Given the description of an element on the screen output the (x, y) to click on. 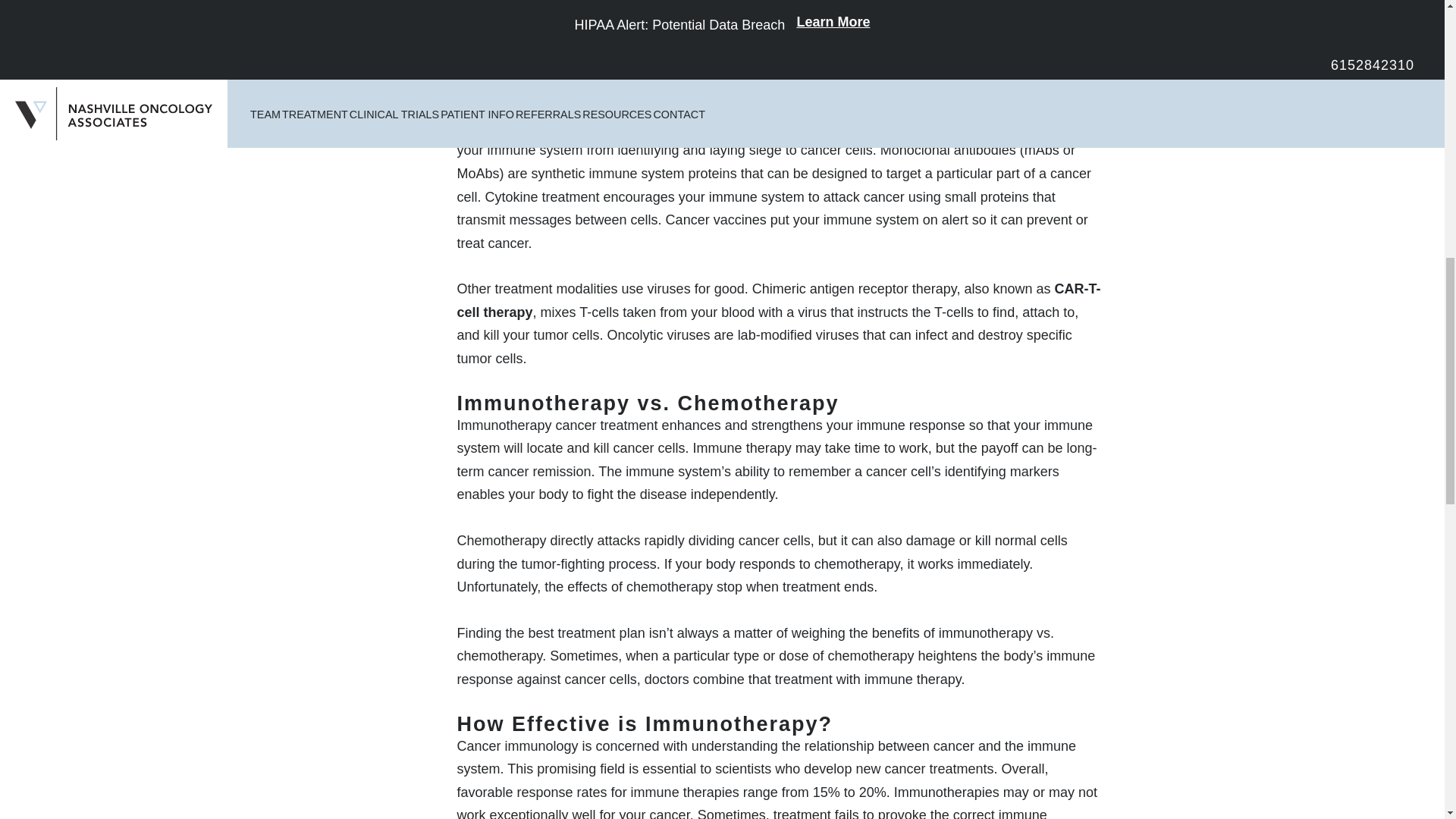
cancer treatments (578, 14)
CAR-T-cell therapy (778, 300)
